Given the description of an element on the screen output the (x, y) to click on. 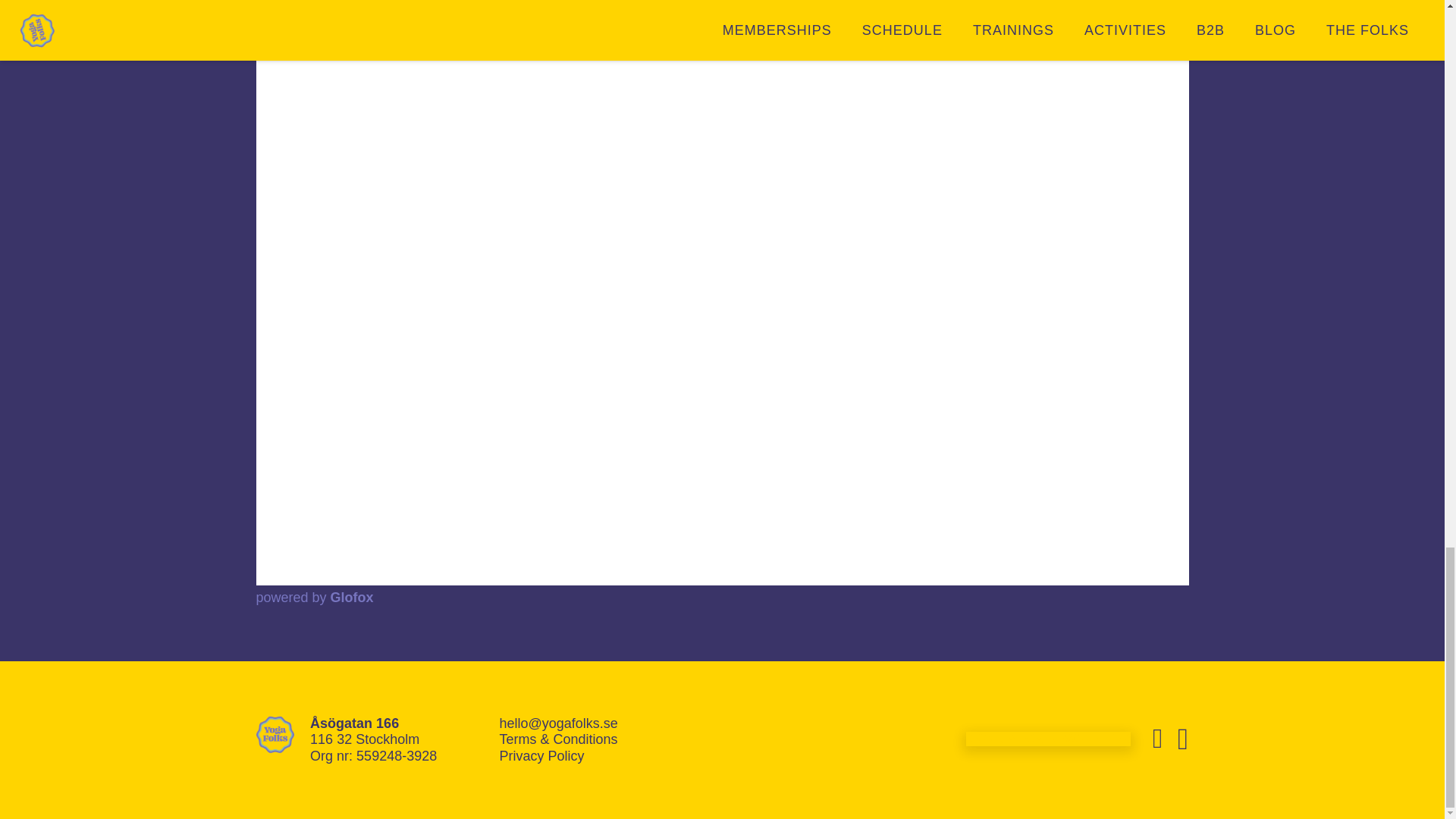
powered by Glofox (315, 597)
SIGN UP FOR NEWSLETTER (1048, 739)
Privacy Policy (541, 755)
